Given the description of an element on the screen output the (x, y) to click on. 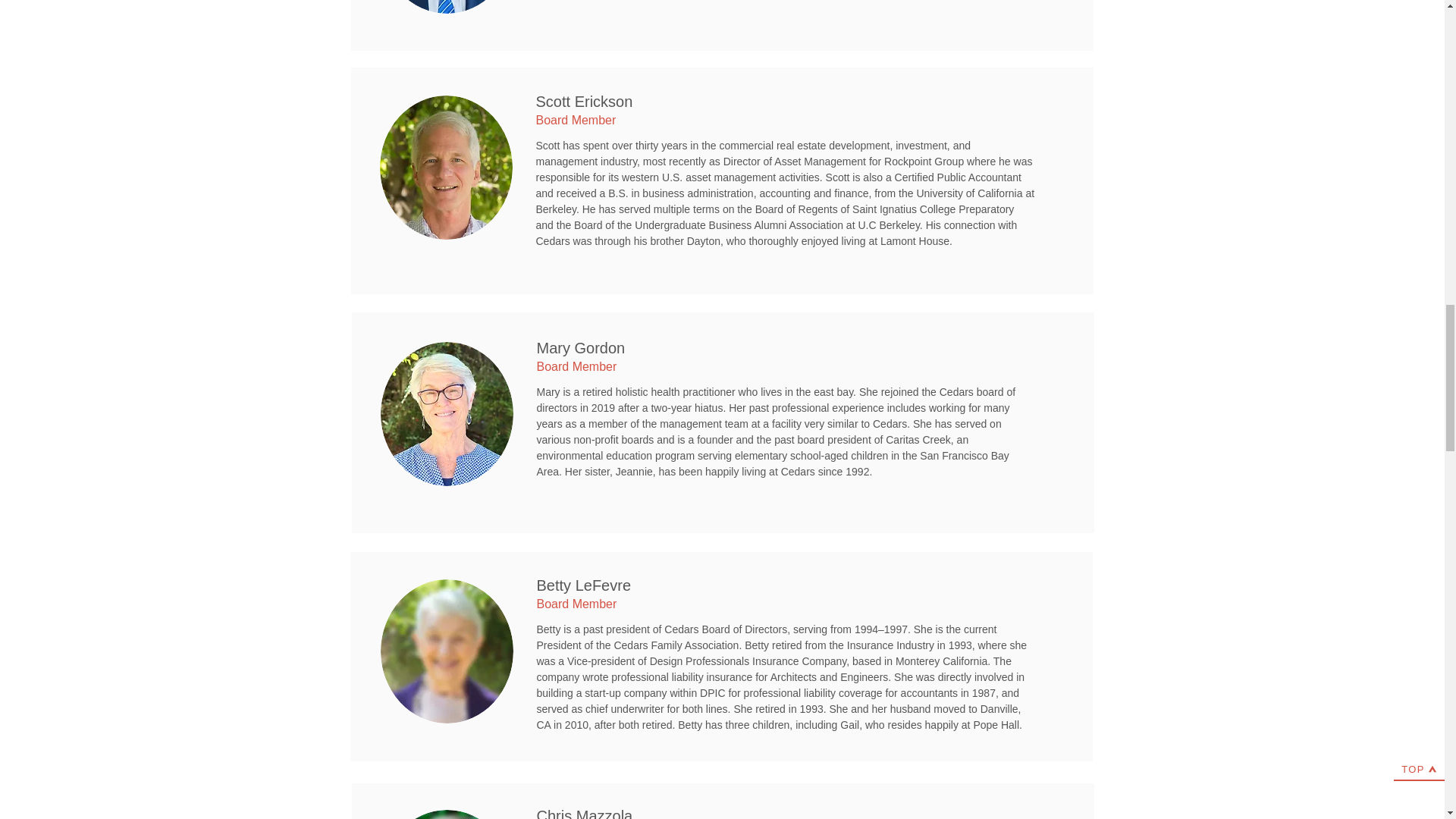
guy2.jpg (446, 814)
guy2.jpg (446, 414)
guy2.jpg (446, 6)
guy2.jpg (446, 651)
guy2.jpg (445, 167)
